Given the description of an element on the screen output the (x, y) to click on. 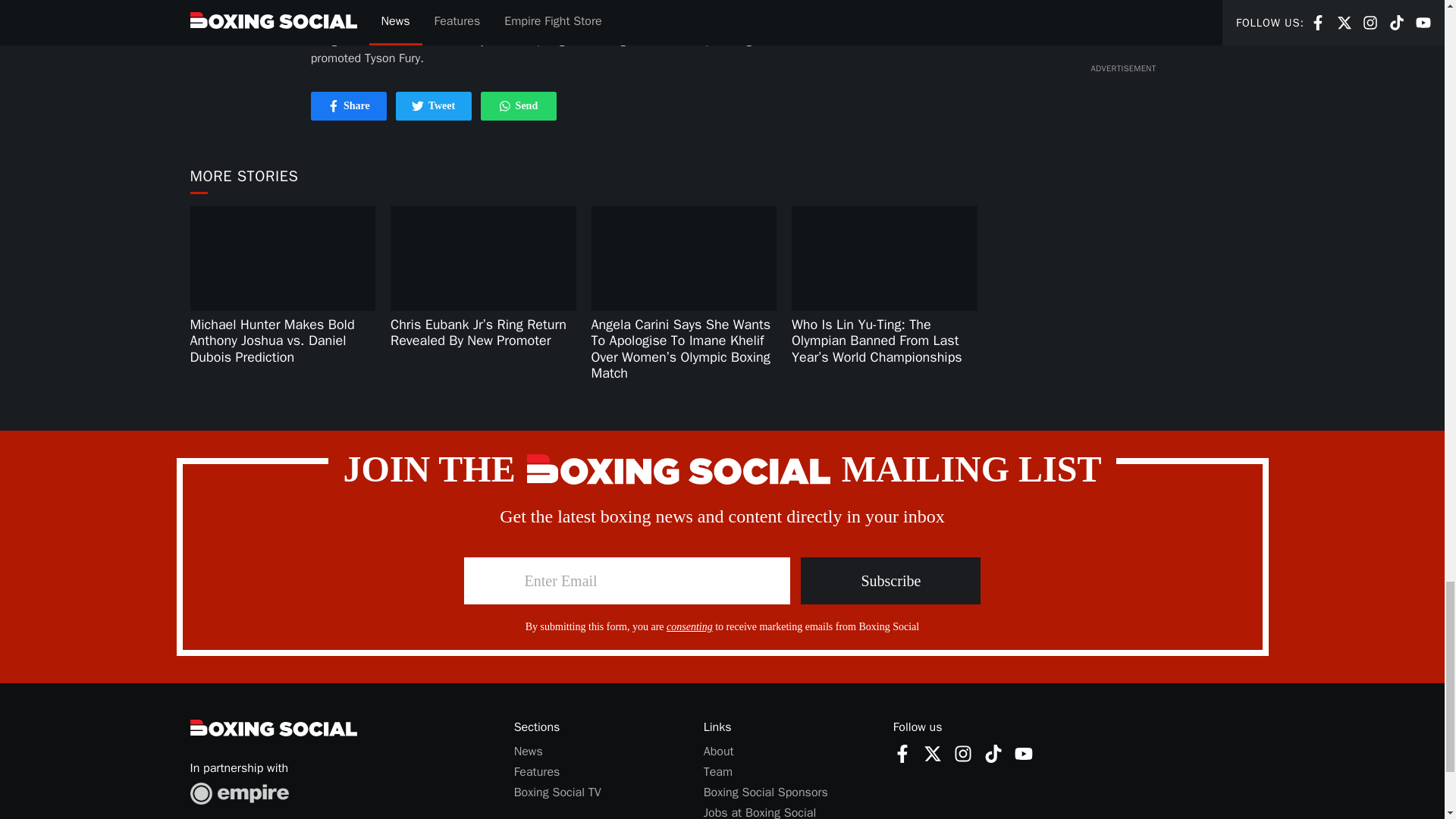
Facebook (349, 106)
Boxing Social Sponsors (902, 753)
WhatsApp (765, 792)
Twitter (433, 106)
Team (505, 105)
YouTube (417, 105)
TikTok (717, 771)
Instagram (1023, 753)
